Given the description of an element on the screen output the (x, y) to click on. 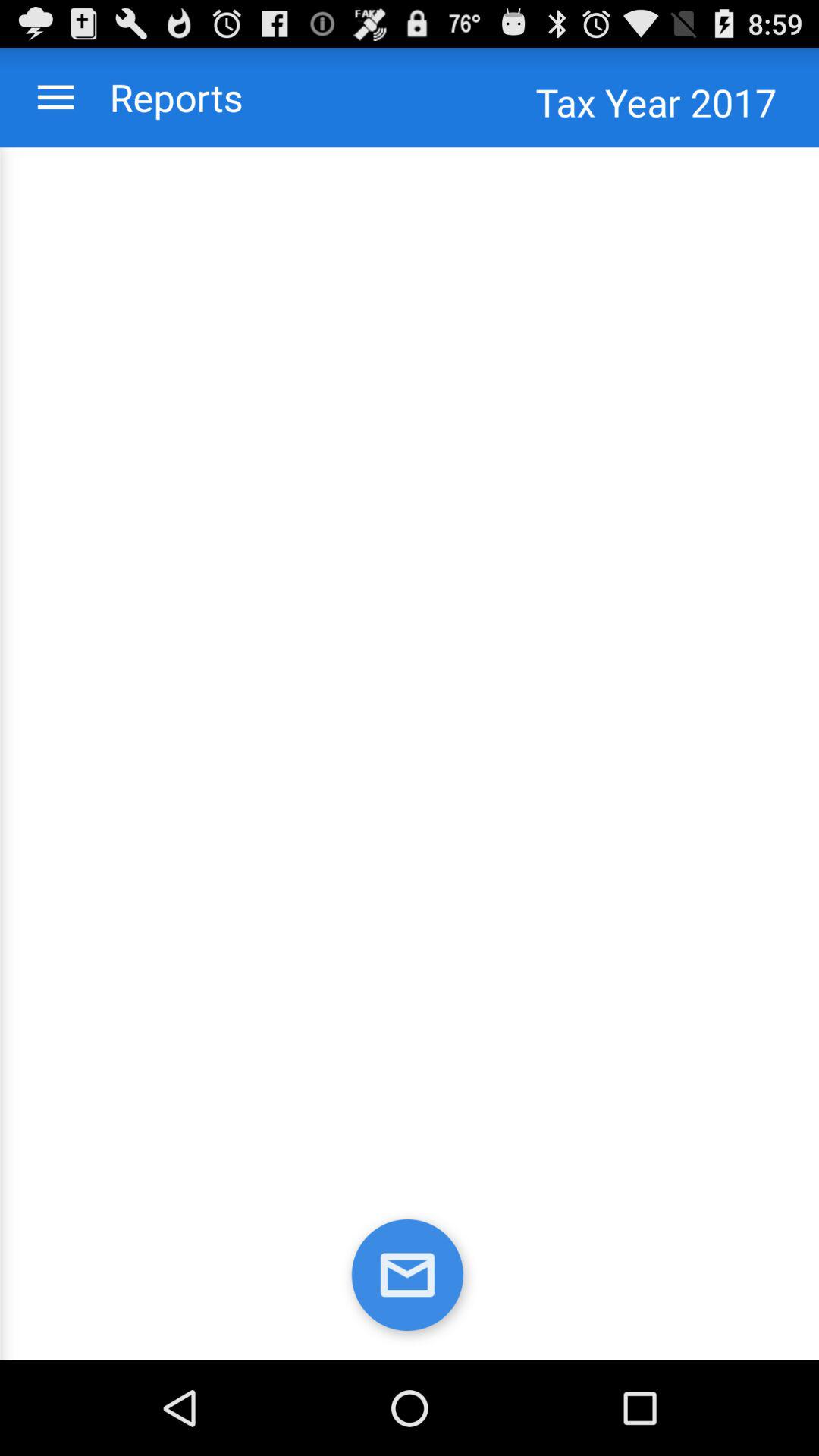
the menu bar (55, 97)
